Given the description of an element on the screen output the (x, y) to click on. 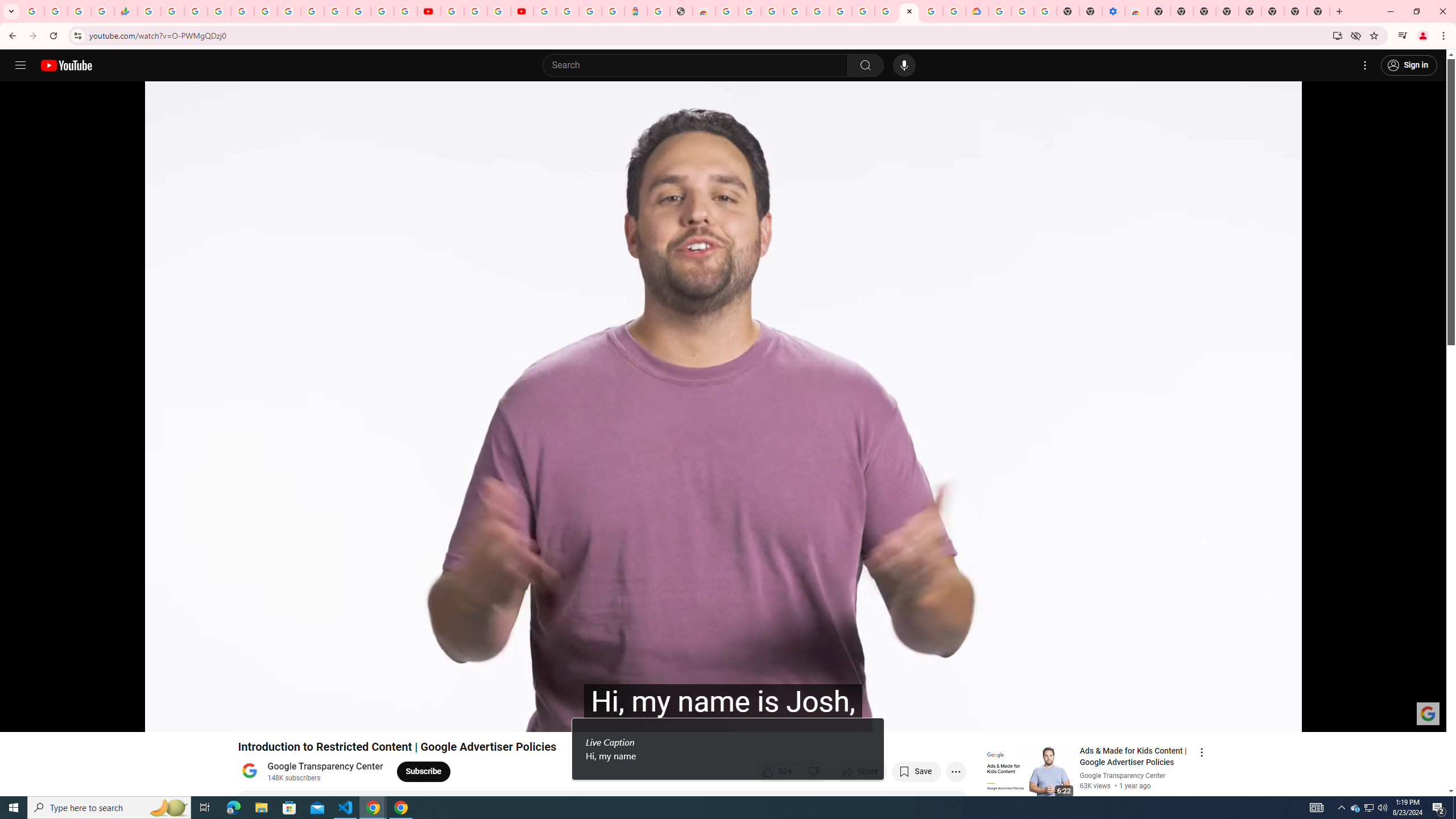
New Tab (1318, 11)
Search (697, 65)
YouTube (428, 11)
Google Workspace Admin Community (32, 11)
Action menu (1200, 752)
